Given the description of an element on the screen output the (x, y) to click on. 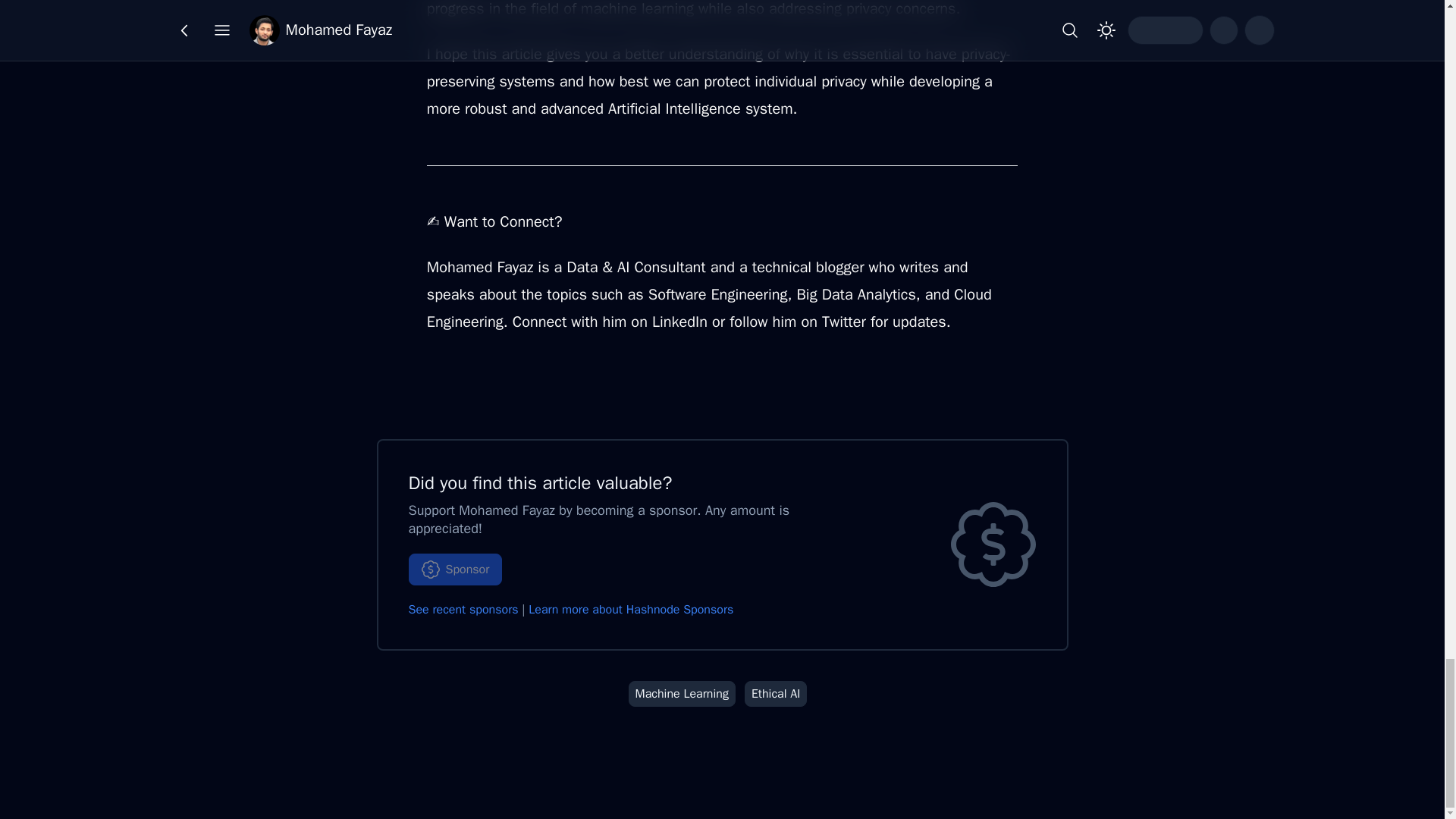
See recent sponsors (462, 609)
Sponsor (454, 569)
Machine Learning (681, 693)
Learn more about Hashnode Sponsors (630, 609)
Ethical AI (776, 693)
